Given the description of an element on the screen output the (x, y) to click on. 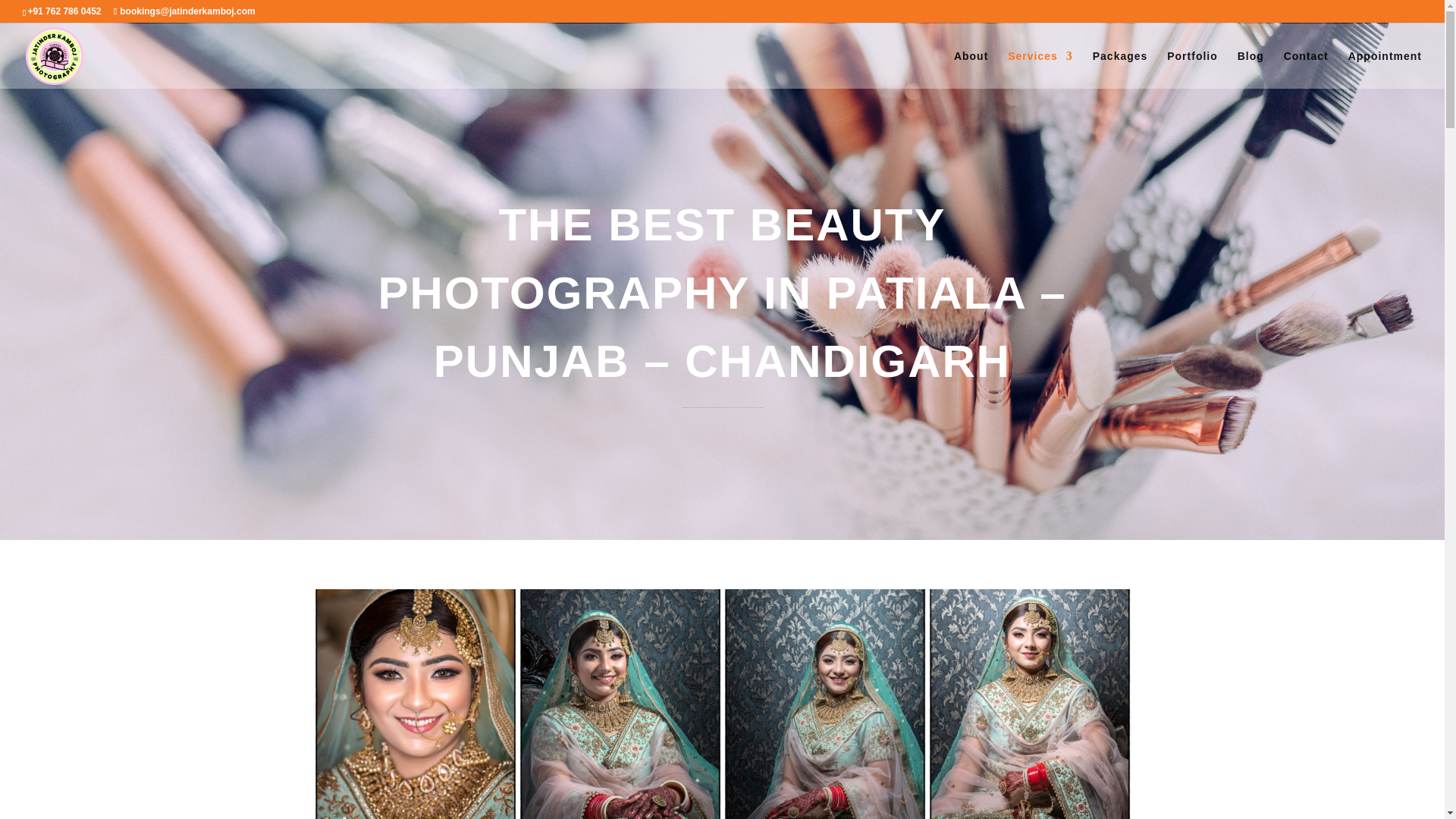
Portfolio (1192, 69)
Packages (1120, 69)
Appointment (1385, 69)
Services (1040, 69)
Contact (1305, 69)
About (970, 69)
